Given the description of an element on the screen output the (x, y) to click on. 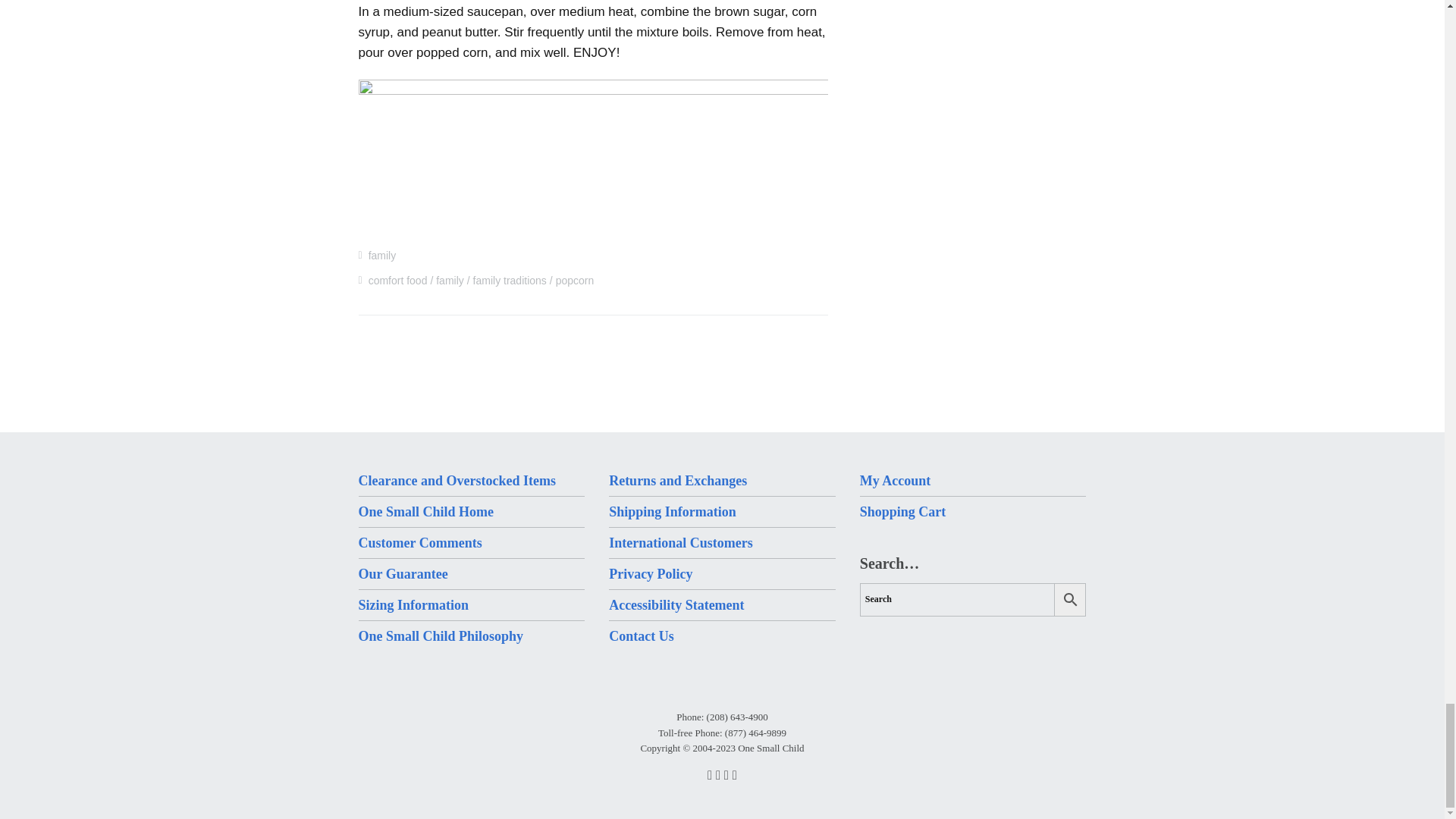
Process (593, 154)
